Given the description of an element on the screen output the (x, y) to click on. 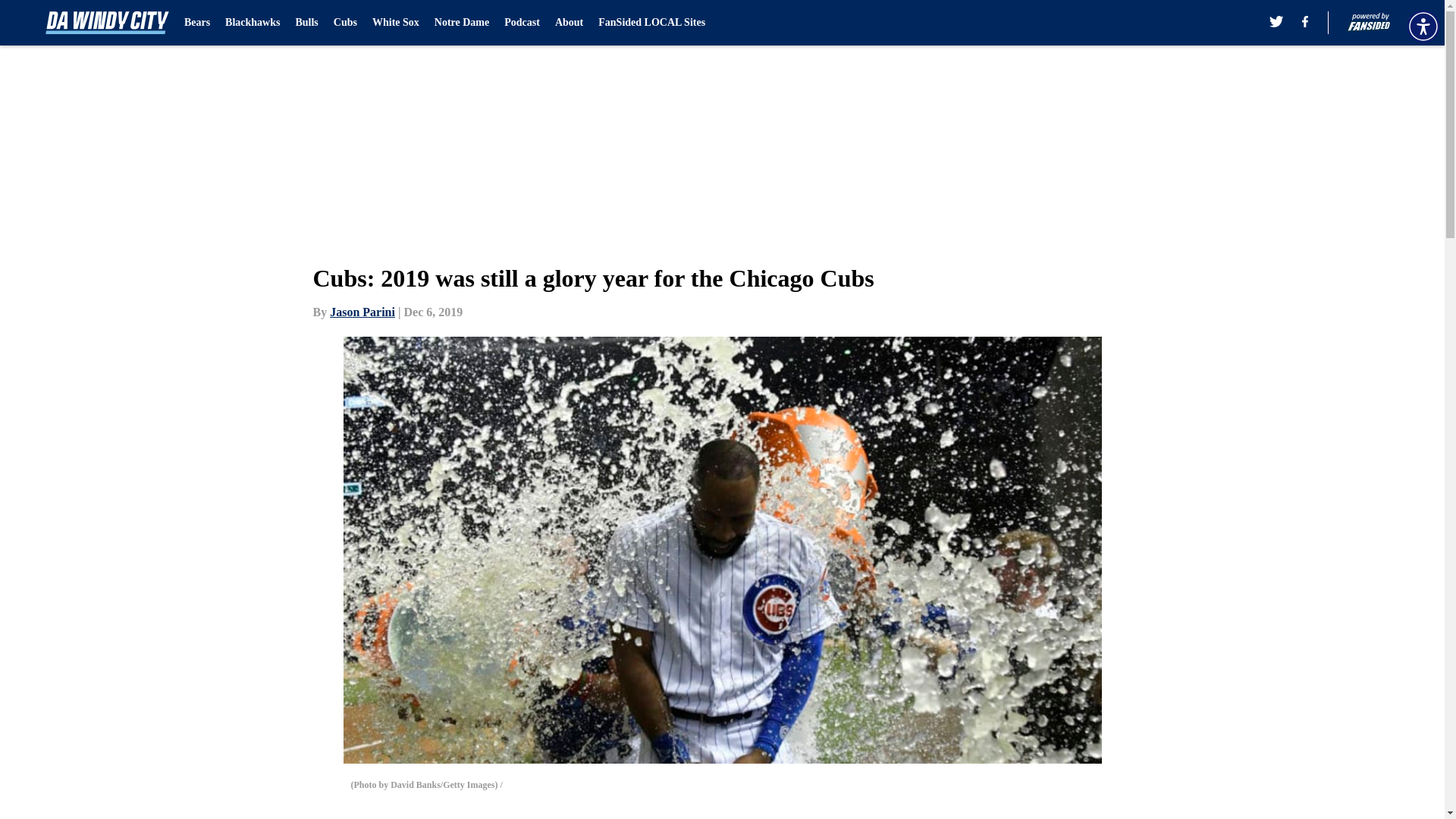
Bears (196, 22)
Bulls (306, 22)
About (568, 22)
Podcast (521, 22)
Blackhawks (252, 22)
Accessibility Menu (1422, 26)
FanSided LOCAL Sites (651, 22)
White Sox (395, 22)
Notre Dame (461, 22)
Cubs (344, 22)
